Given the description of an element on the screen output the (x, y) to click on. 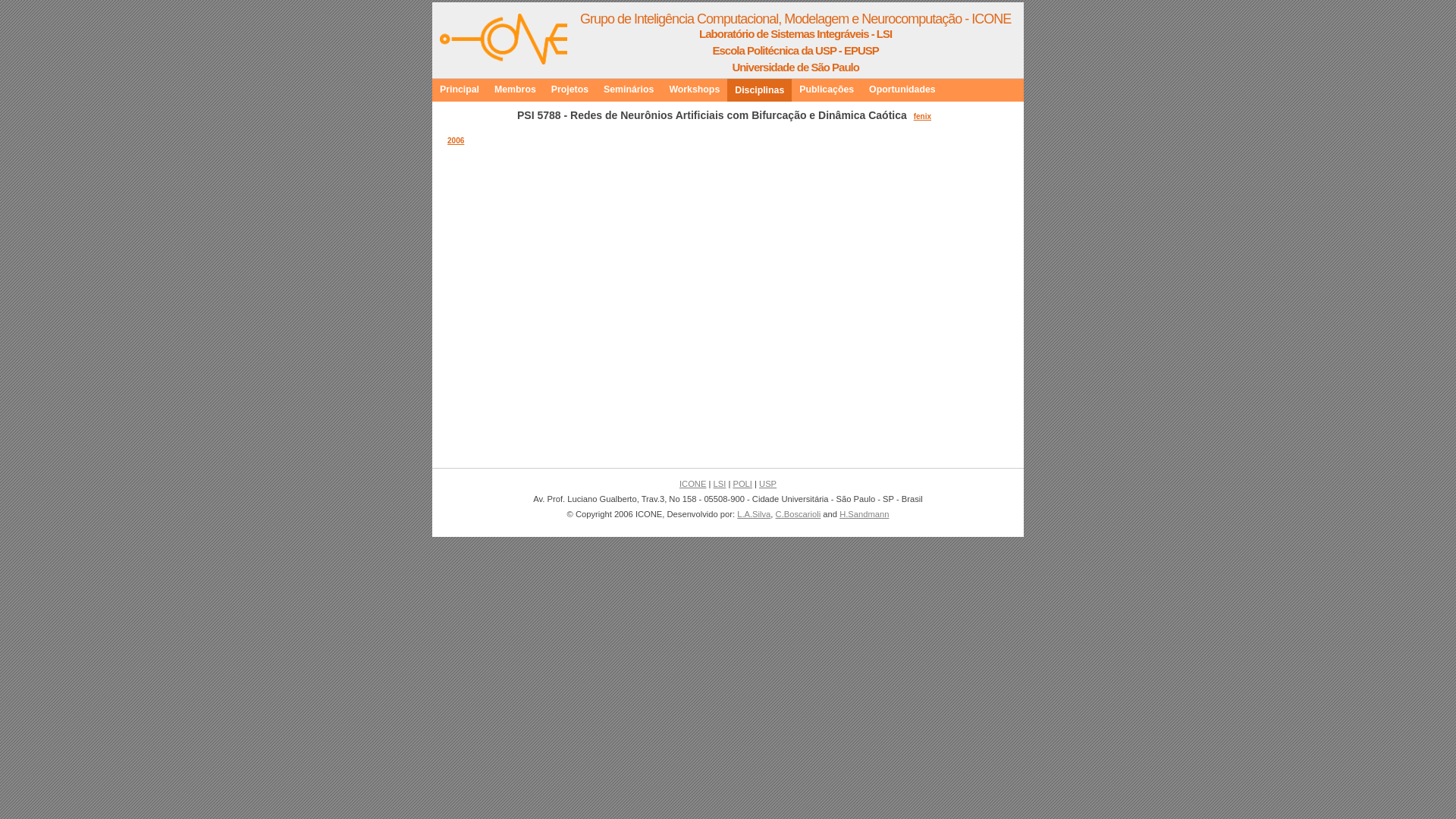
ICONE Element type: text (692, 483)
H.Sandmann Element type: text (863, 513)
USP Element type: text (767, 483)
Projetos Element type: text (569, 89)
Membros Element type: text (515, 89)
L.A.Silva Element type: text (753, 513)
POLI Element type: text (742, 483)
fenix Element type: text (924, 116)
2006 Element type: text (455, 140)
LSI Element type: text (718, 483)
C.Boscarioli Element type: text (798, 513)
Oportunidades Element type: text (902, 89)
Principal Element type: text (459, 89)
Workshops Element type: text (693, 89)
